Given the description of an element on the screen output the (x, y) to click on. 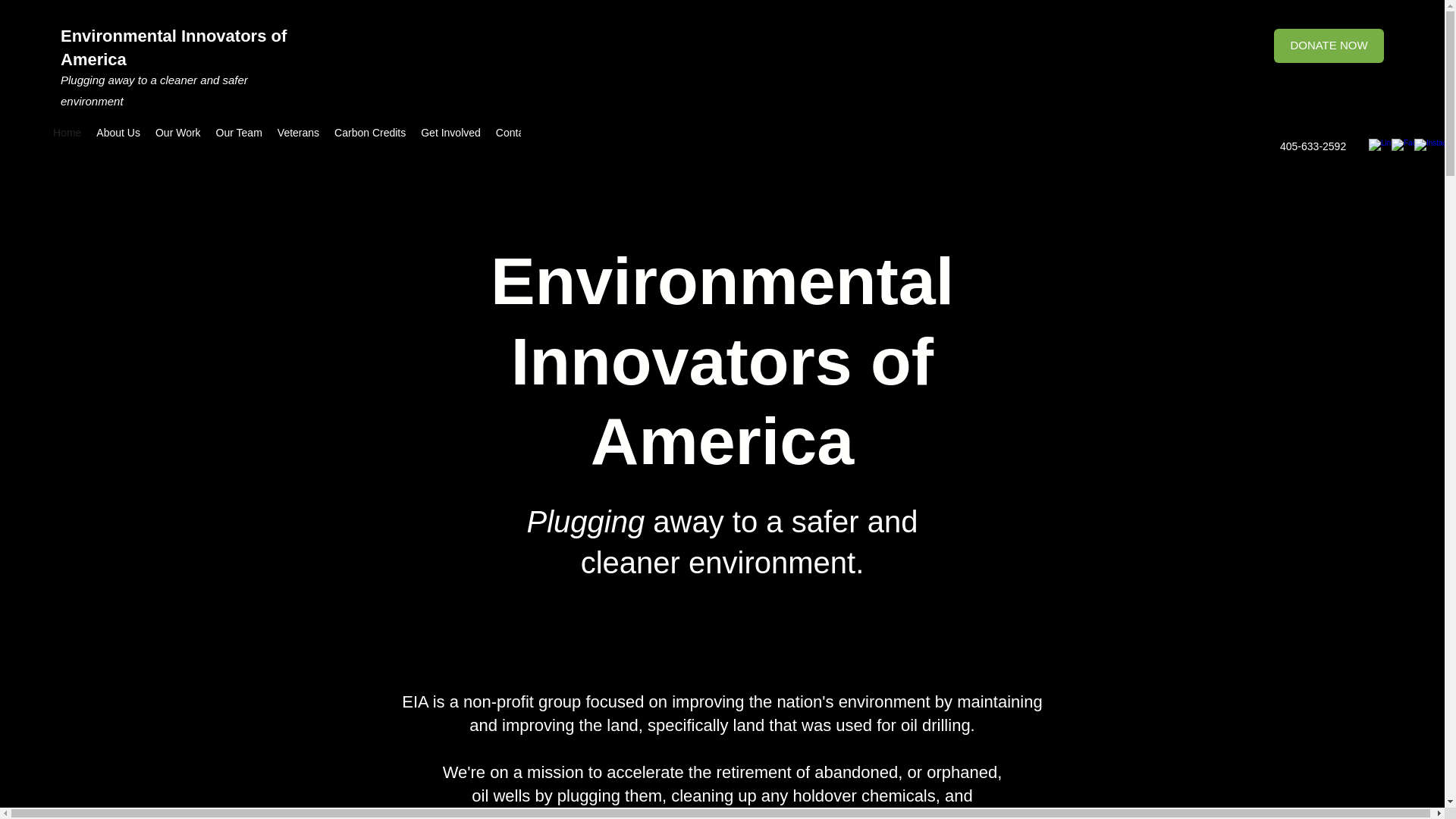
About Us (118, 134)
Home (66, 134)
Our Work (178, 134)
Carbon Credits (369, 134)
Contact (513, 134)
Get Involved (450, 134)
DONATE NOW (1329, 45)
Our Team (238, 134)
Veterans (297, 134)
